Given the description of an element on the screen output the (x, y) to click on. 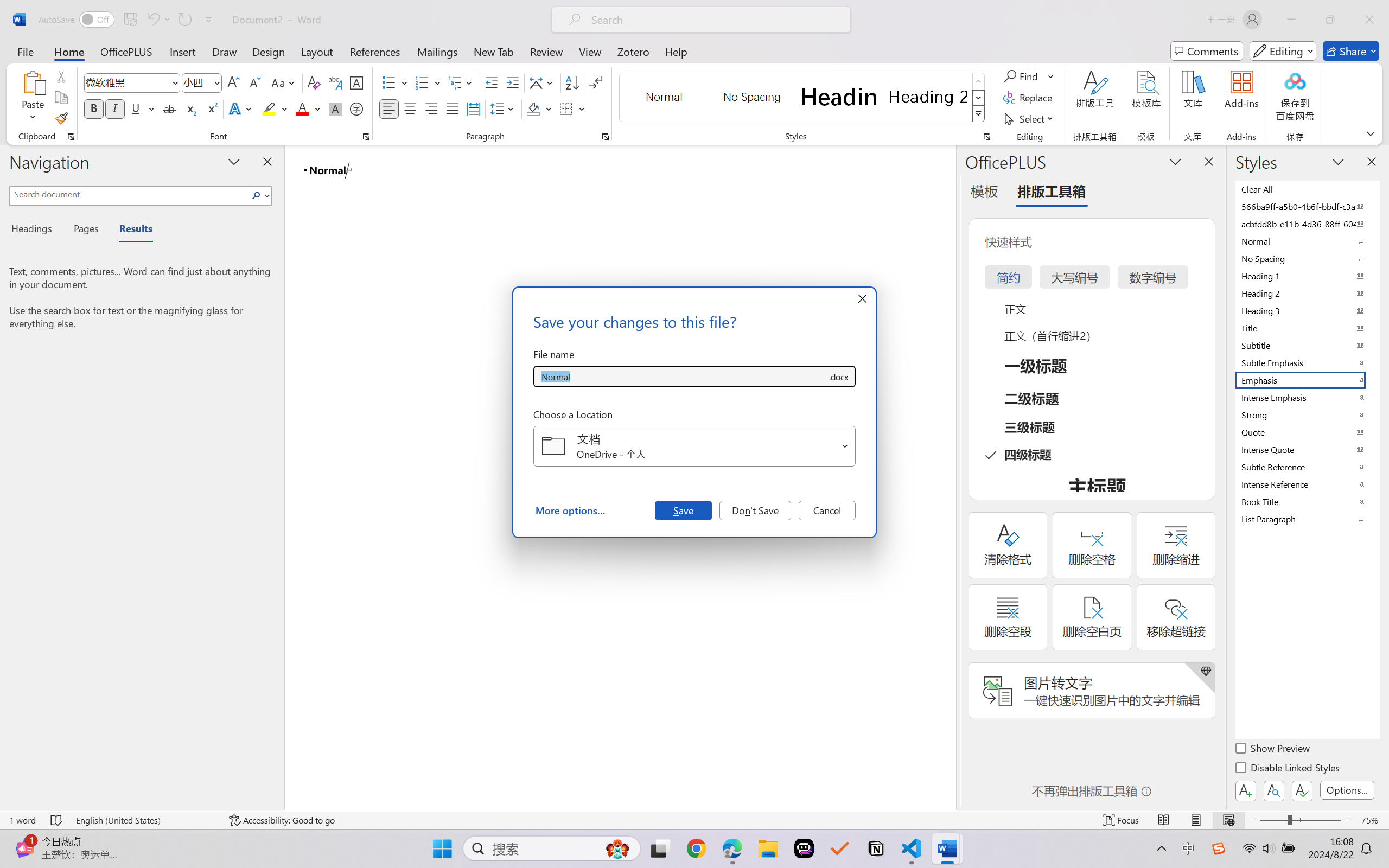
Heading 1 (839, 96)
Align Right (431, 108)
Share (1350, 51)
Text Effects and Typography (241, 108)
Class: Image (1218, 847)
Character Border (356, 82)
Phonetic Guide... (334, 82)
Quick Access Toolbar (127, 19)
Bullets (395, 82)
Subtitle (1306, 345)
Zoom Out (1273, 819)
Clear All (1306, 188)
